Given the description of an element on the screen output the (x, y) to click on. 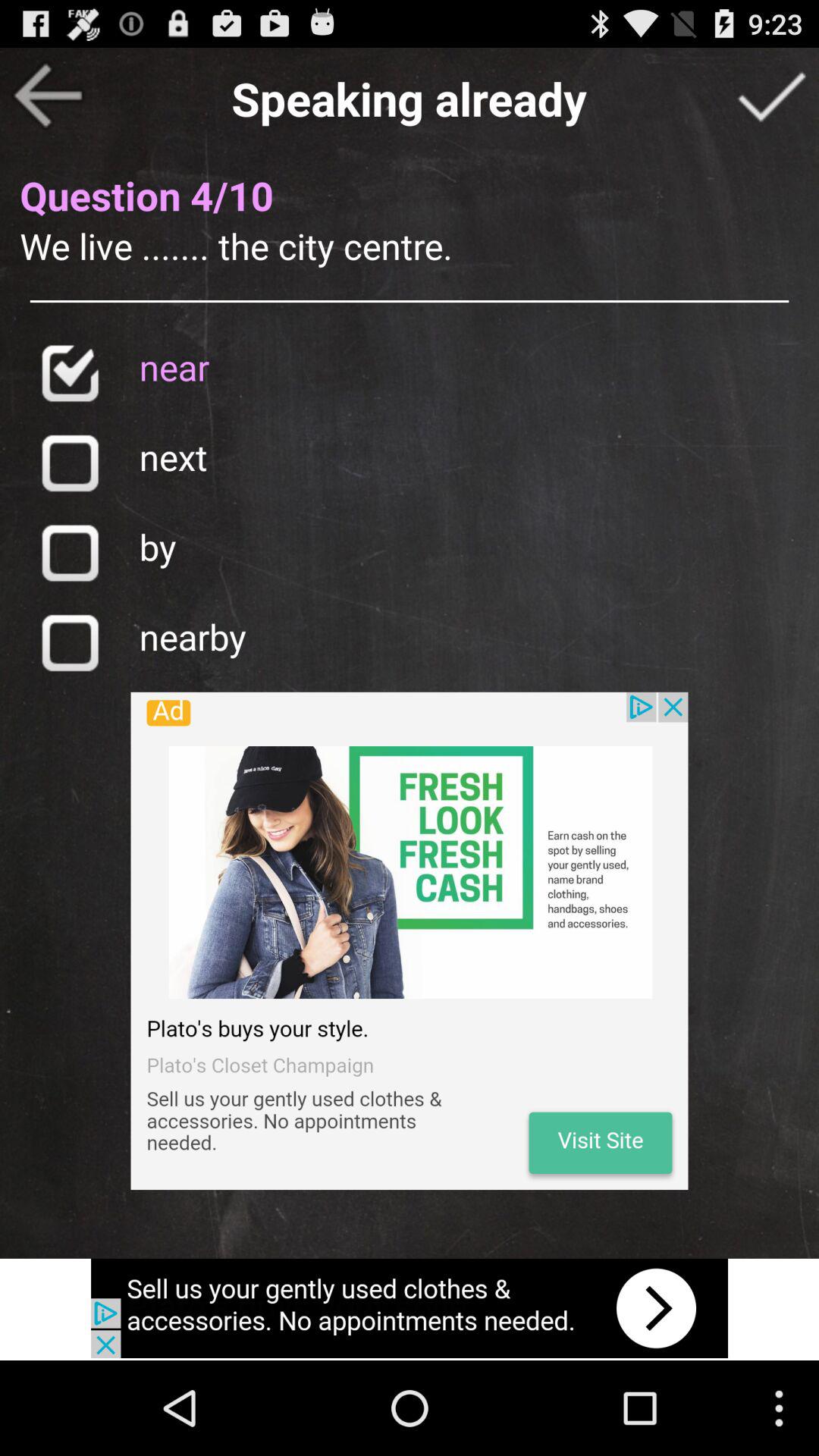
save (69, 642)
